Given the description of an element on the screen output the (x, y) to click on. 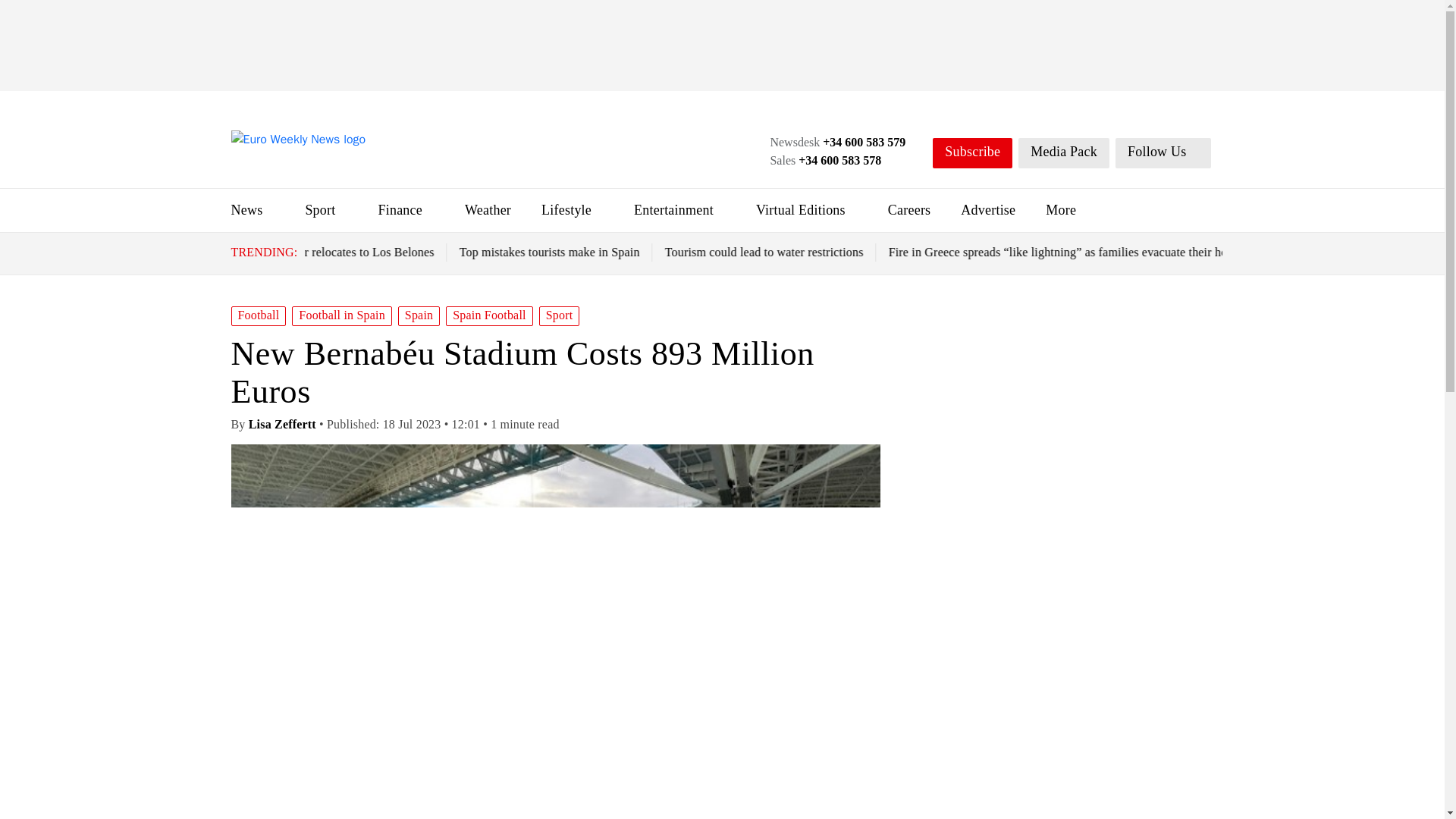
Subscribe (972, 153)
Media Pack (1063, 153)
News (246, 209)
Follow Us (1163, 153)
